Given the description of an element on the screen output the (x, y) to click on. 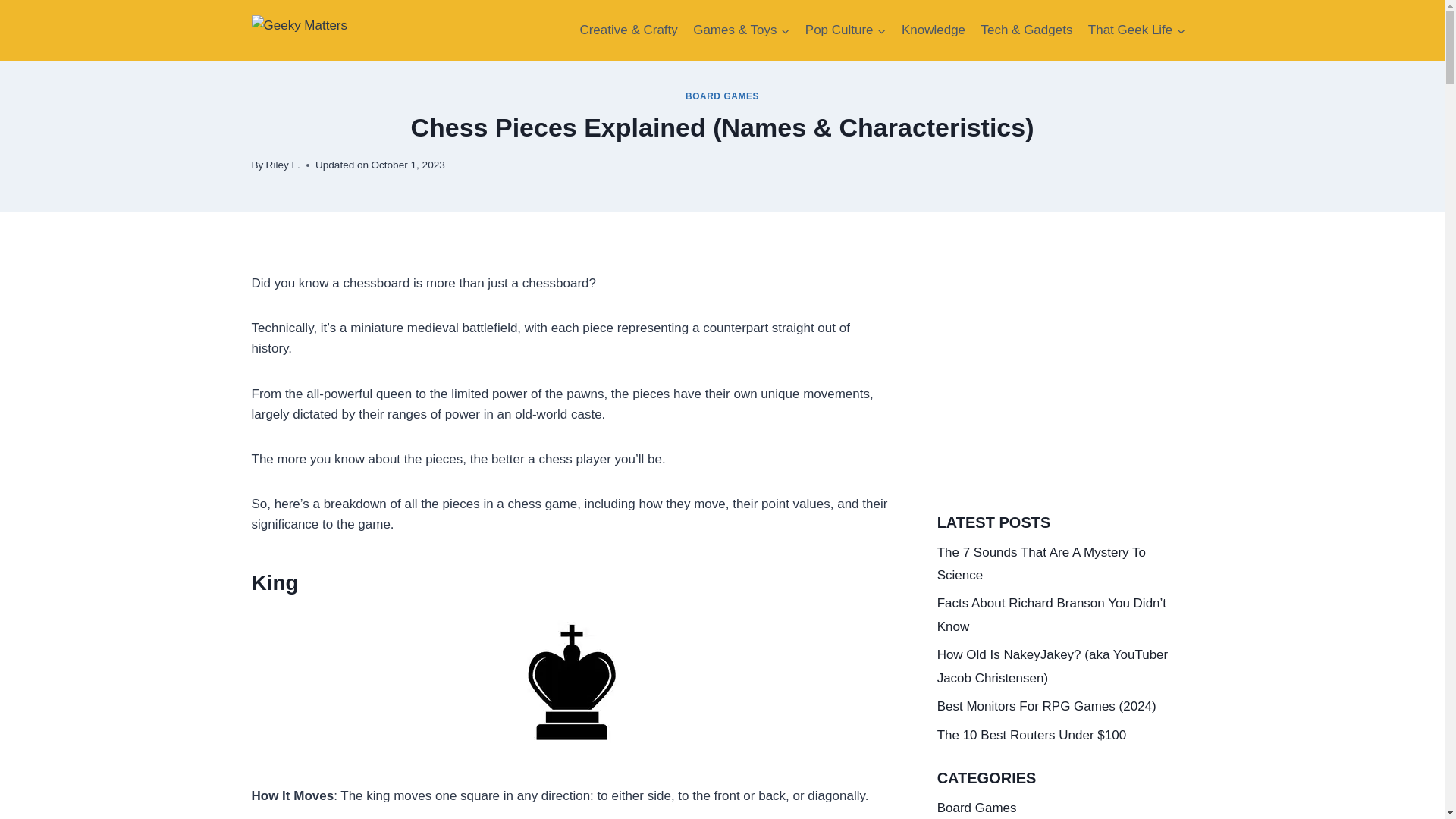
Knowledge (933, 30)
BOARD GAMES (721, 95)
Pop Culture (845, 30)
The 7 Sounds That Are A Mystery To Science (1041, 563)
Board Games (976, 807)
Riley L. (282, 164)
That Geek Life (1136, 30)
Advertisement (1065, 385)
